Given the description of an element on the screen output the (x, y) to click on. 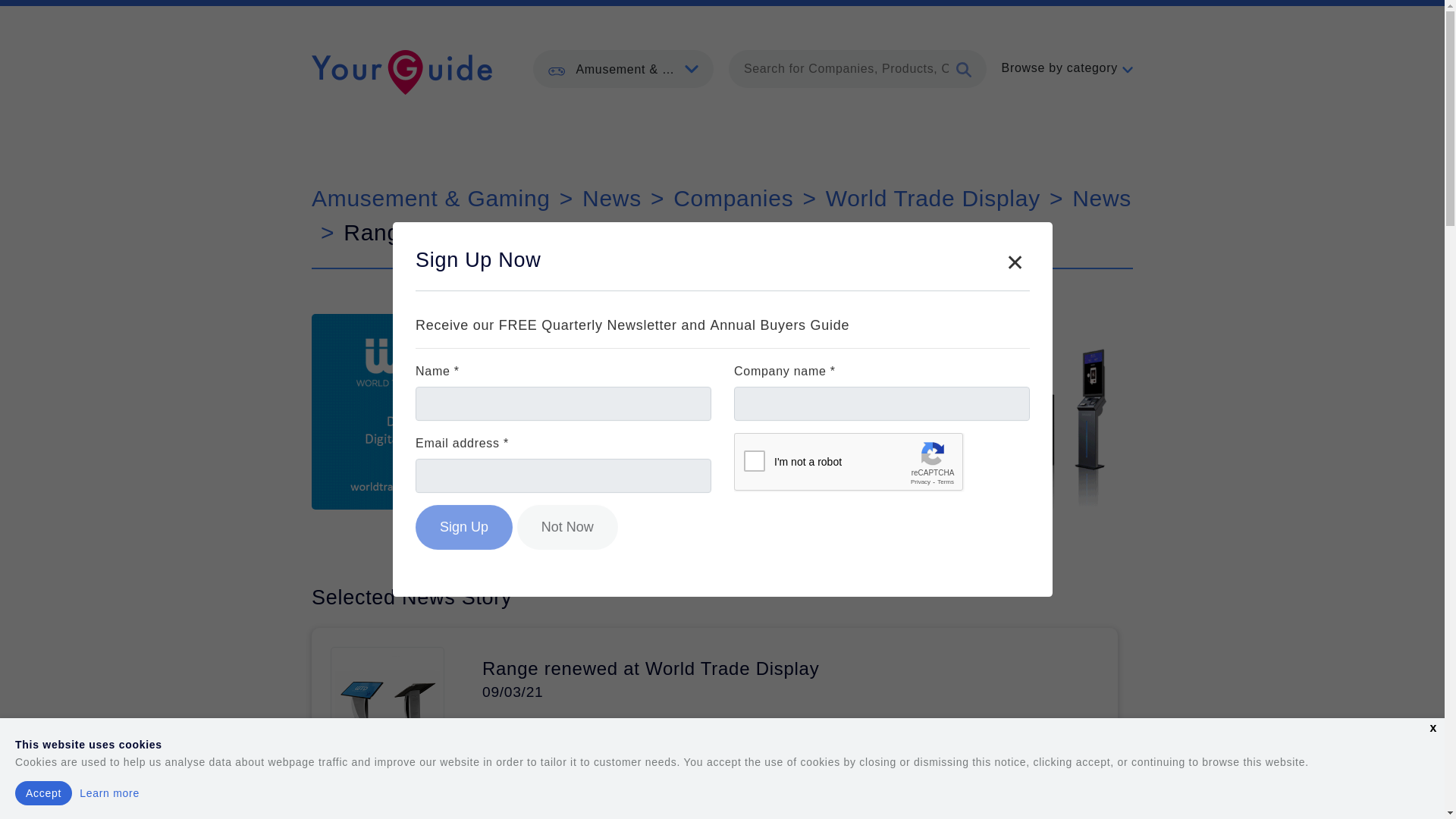
reCAPTCHA (848, 462)
Browse by category (1066, 67)
World Trade Display (933, 197)
Companies (732, 197)
Sign Up (463, 527)
Enlarge image (368, 768)
News (1101, 197)
News (612, 197)
